Given the description of an element on the screen output the (x, y) to click on. 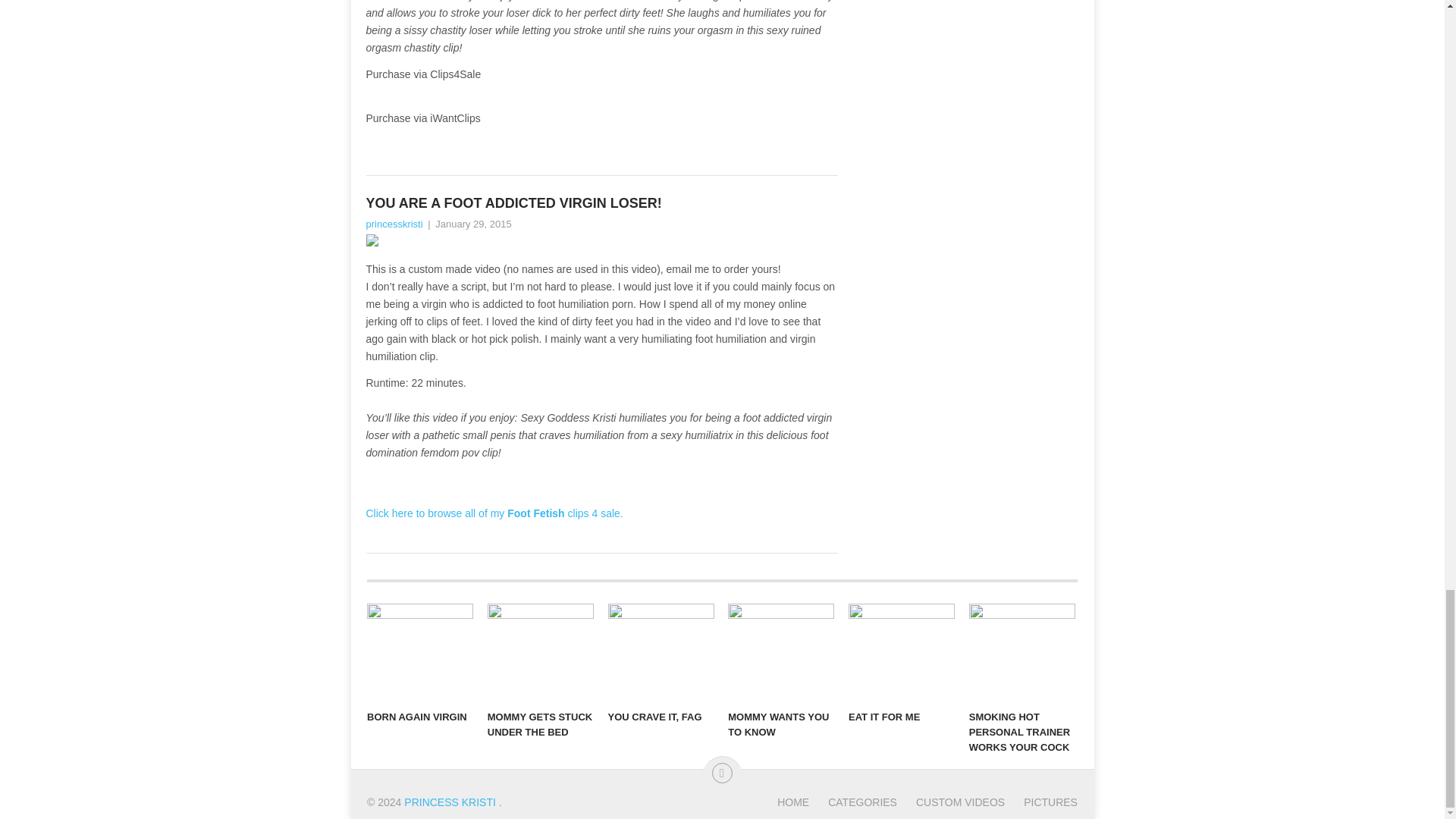
You Are a Foot Addicted Virgin Loser! (601, 203)
Posts by princesskristi (393, 224)
Mommy Gets Stuck Under the Bed (540, 652)
Born Again Virgin (419, 652)
